Given the description of an element on the screen output the (x, y) to click on. 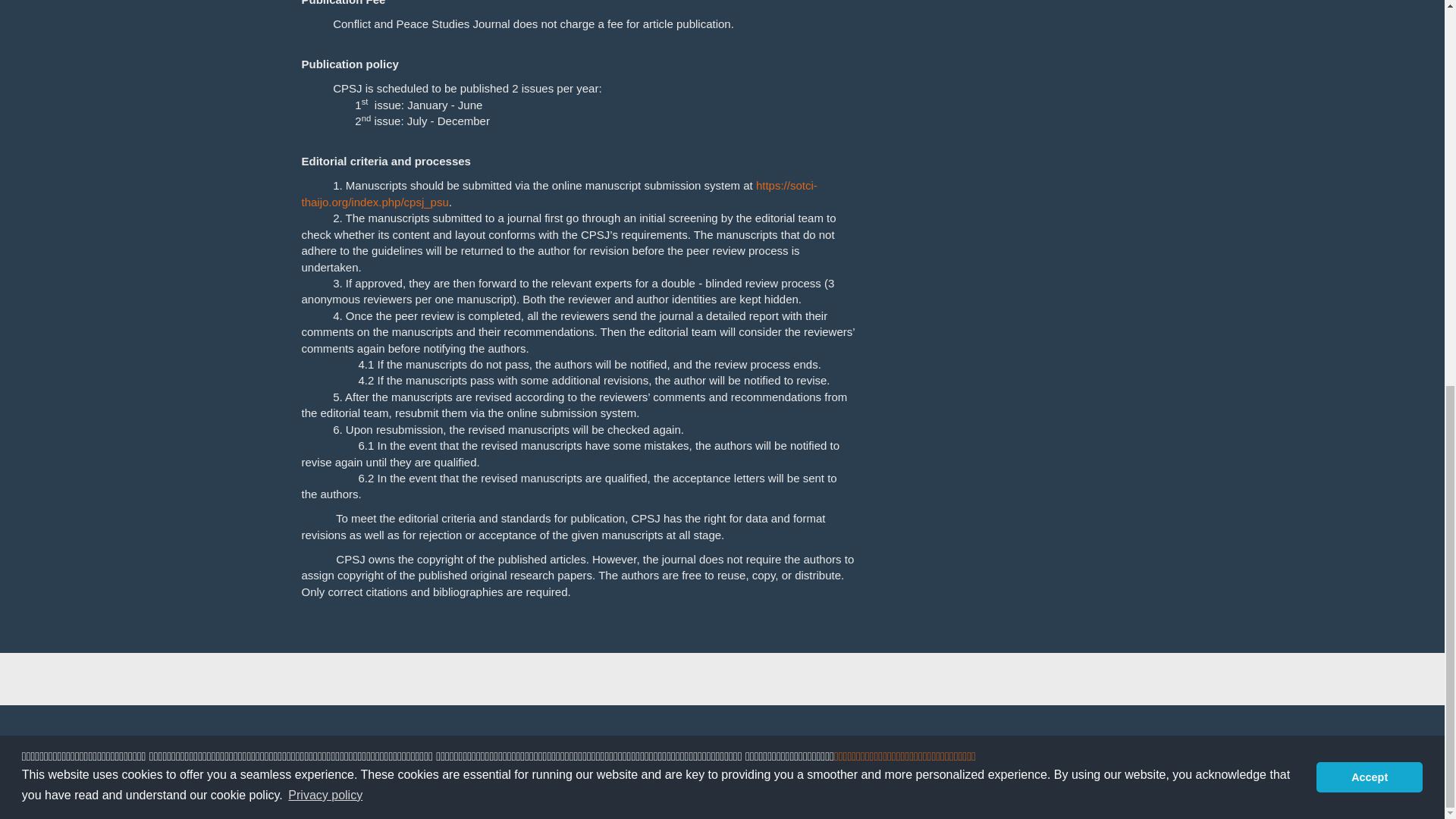
Privacy policy (325, 68)
Accept (1369, 51)
Privacy policy (1364, 85)
